Given the description of an element on the screen output the (x, y) to click on. 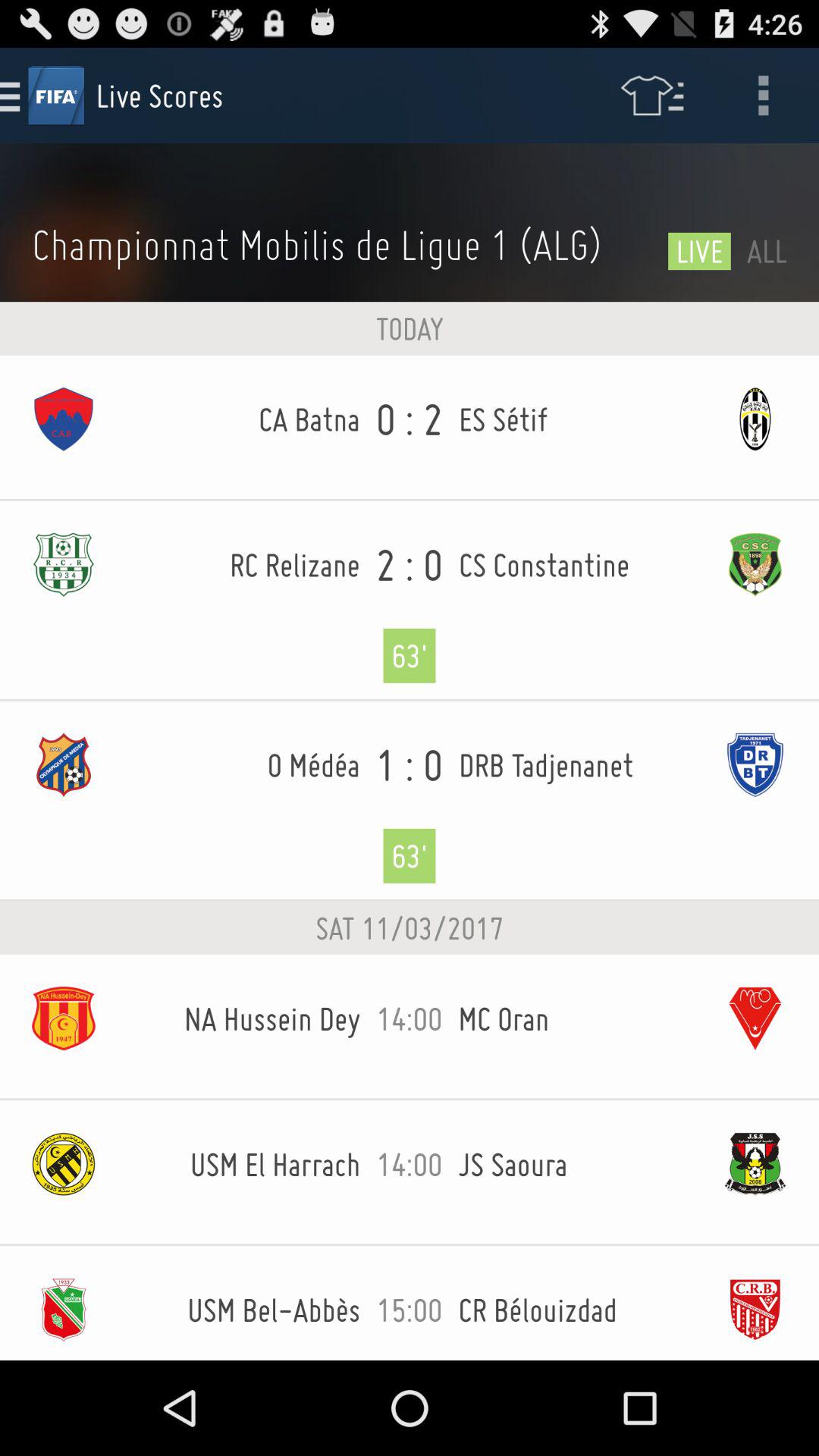
choose the sat 11 03 item (409, 927)
